Given the description of an element on the screen output the (x, y) to click on. 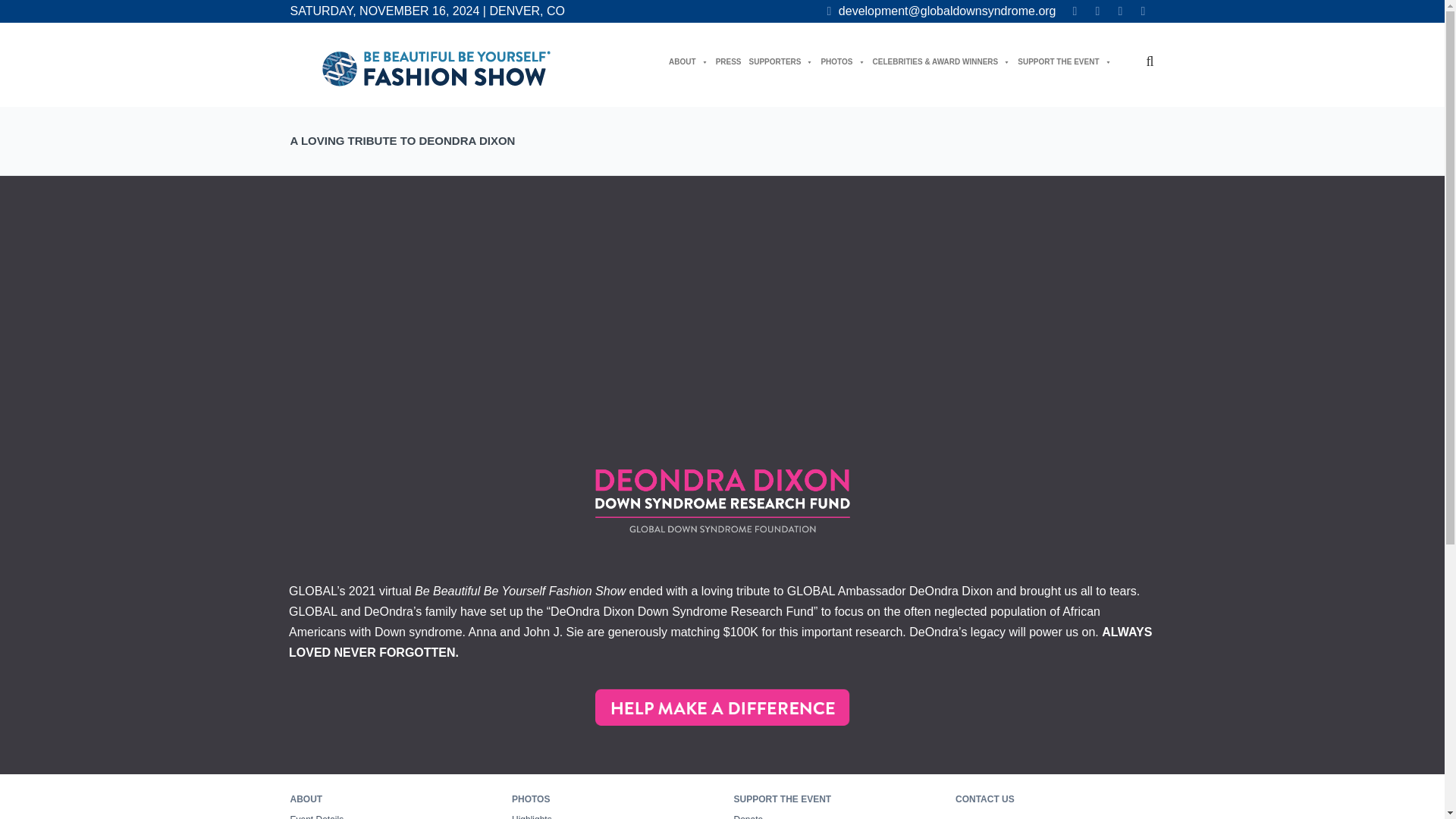
Event Details (316, 816)
PHOTOS (842, 61)
instagram (1119, 11)
Be Beautiful Be Yourself Fashion Show (434, 67)
twitter (1097, 11)
YouTube video player (721, 315)
SUPPORT THE EVENT (1063, 61)
email (941, 11)
ABOUT (687, 61)
facebook (1074, 11)
SUPPORTERS (781, 61)
youtube-play (1142, 11)
